Given the description of an element on the screen output the (x, y) to click on. 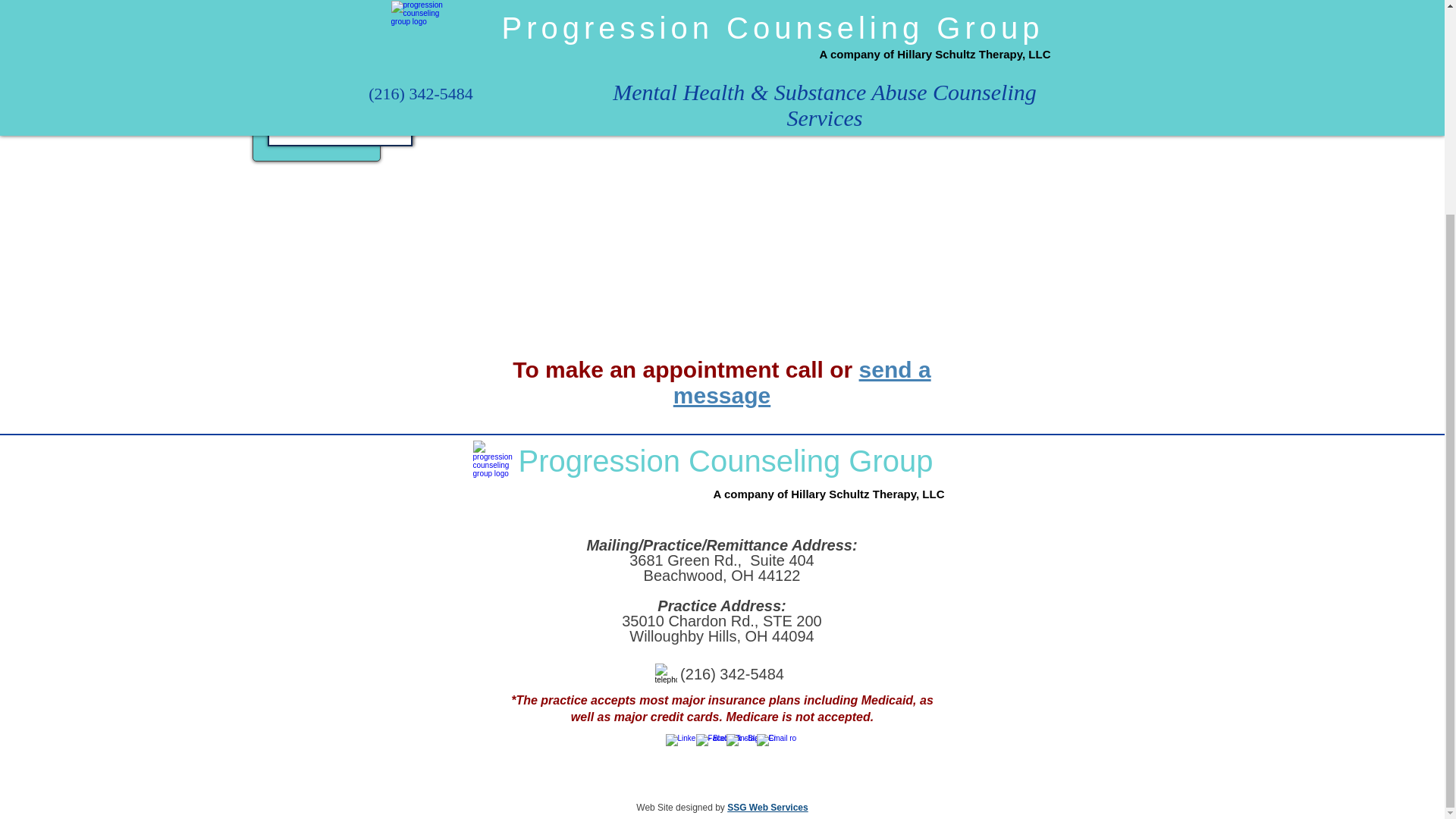
SSG Web Services (767, 807)
Contact (338, 61)
send a message (801, 382)
